Given the description of an element on the screen output the (x, y) to click on. 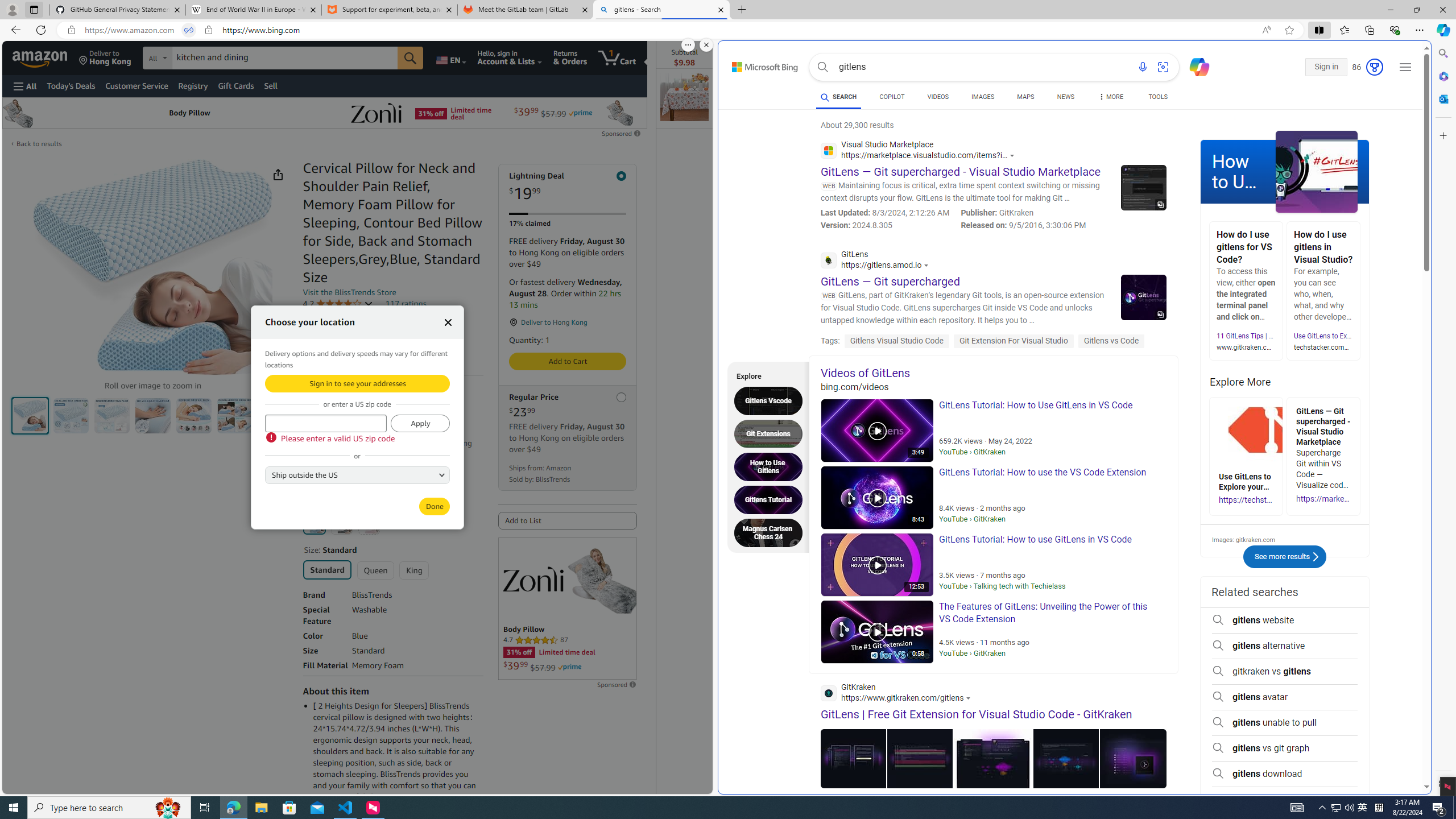
Returns & Orders (570, 57)
Tabs in split screen (189, 29)
Grey (341, 522)
See more results See more results (1284, 556)
Sponsored ad (567, 608)
See more results (1315, 556)
Explore (765, 374)
gitlens website (1283, 620)
Search button (822, 66)
GitLens Tutorial: How to use the VS Code Extension (877, 497)
Gitlens Vscode (771, 400)
Add to List (567, 520)
